Given the description of an element on the screen output the (x, y) to click on. 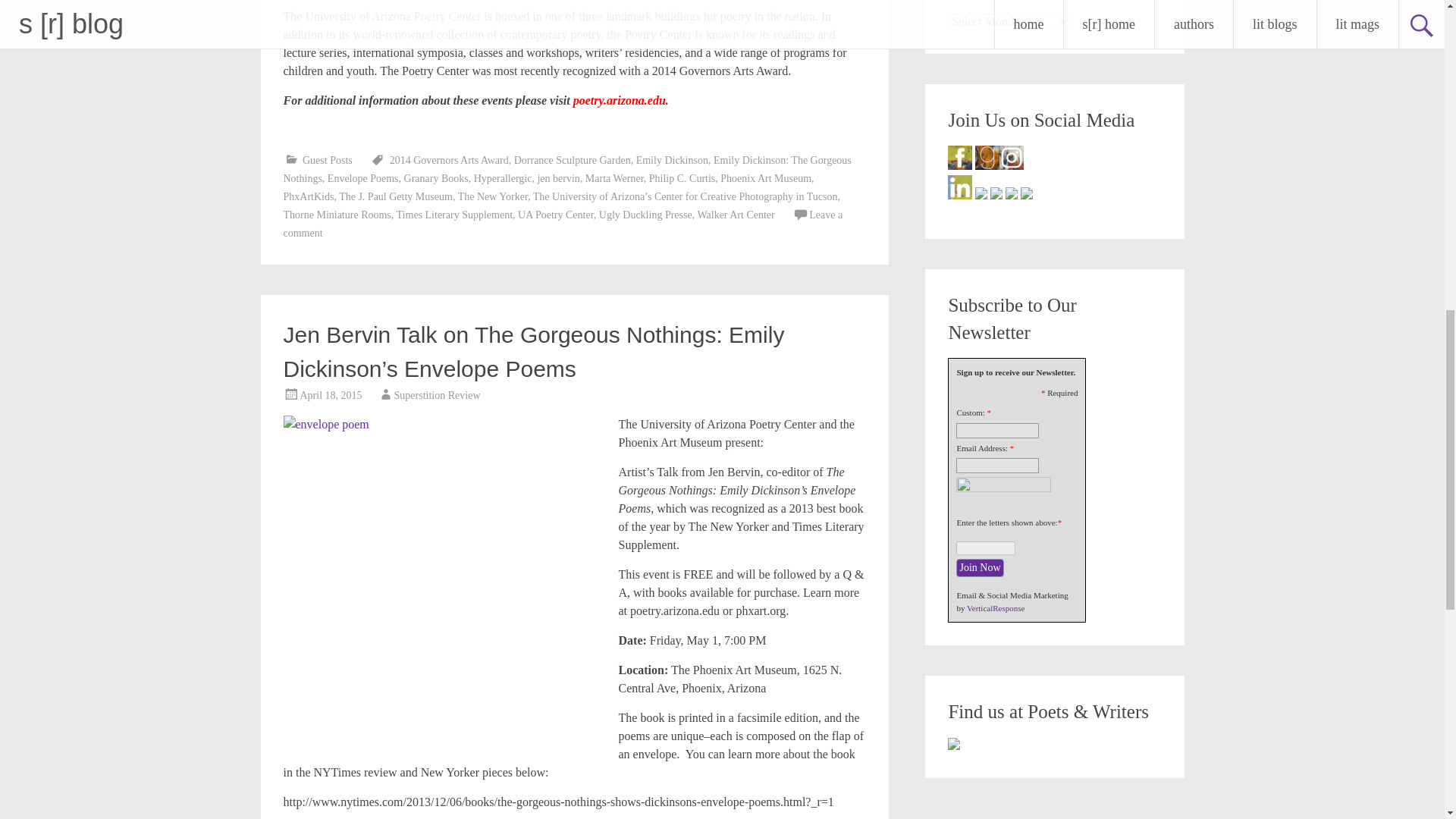
2014 Governors Arts Award (449, 160)
Philip C. Curtis (682, 178)
Envelope Poems (362, 178)
Join Now (979, 566)
April 18, 2015 (330, 395)
Superstition Review on Instagram (1010, 157)
Phoenix Art Museum (765, 178)
UA Poetry Center (556, 214)
jen bervin (558, 178)
Thorne Miniature Rooms (337, 214)
